Given the description of an element on the screen output the (x, y) to click on. 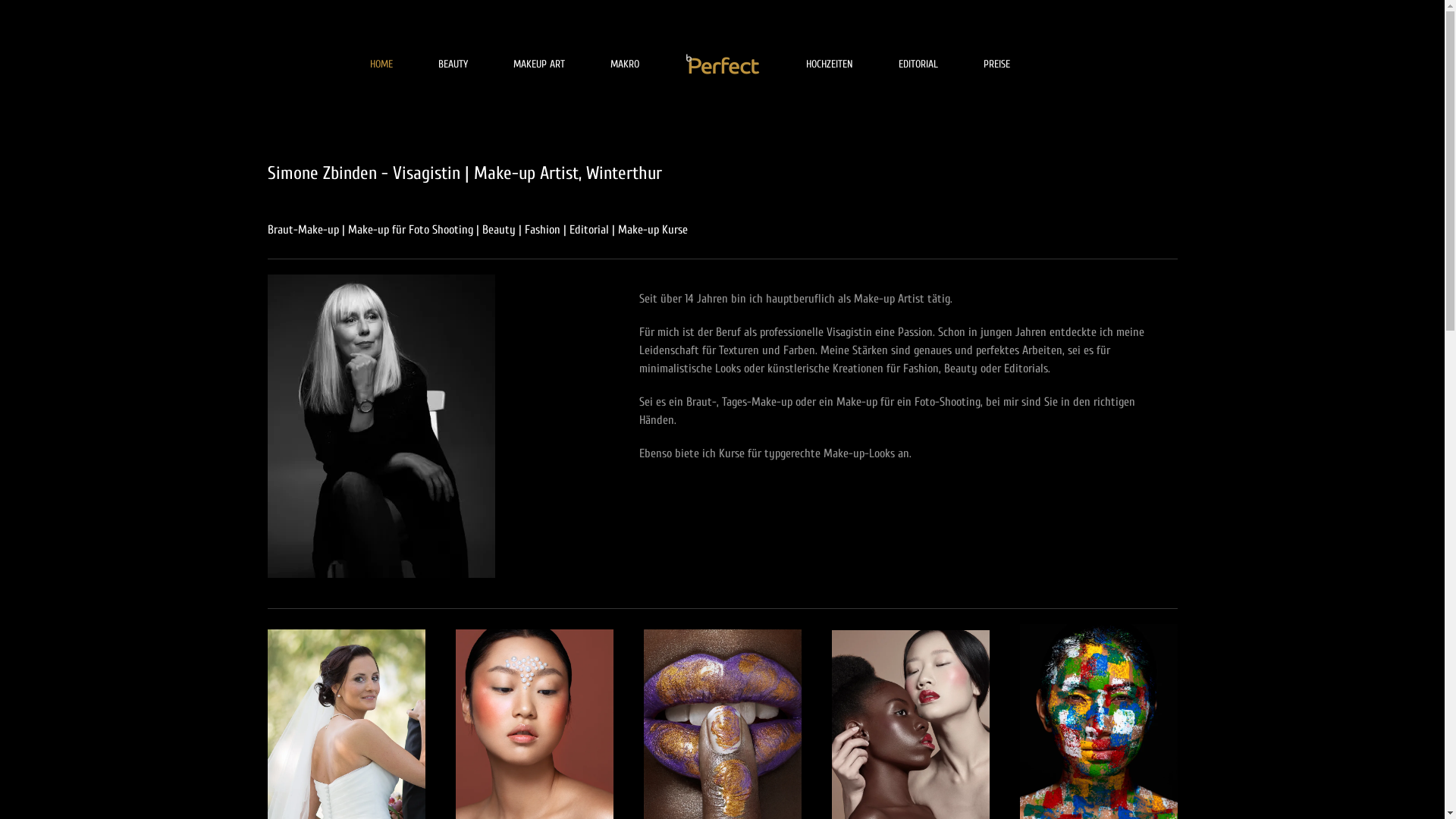
MAKRO Element type: text (623, 63)
MAKEUP ART Element type: text (538, 63)
PREISE Element type: text (995, 63)
HOME Element type: text (381, 63)
EDITORIAL Element type: text (917, 63)
BEAUTY Element type: text (452, 63)
HOCHZEITEN Element type: text (828, 63)
